Given the description of an element on the screen output the (x, y) to click on. 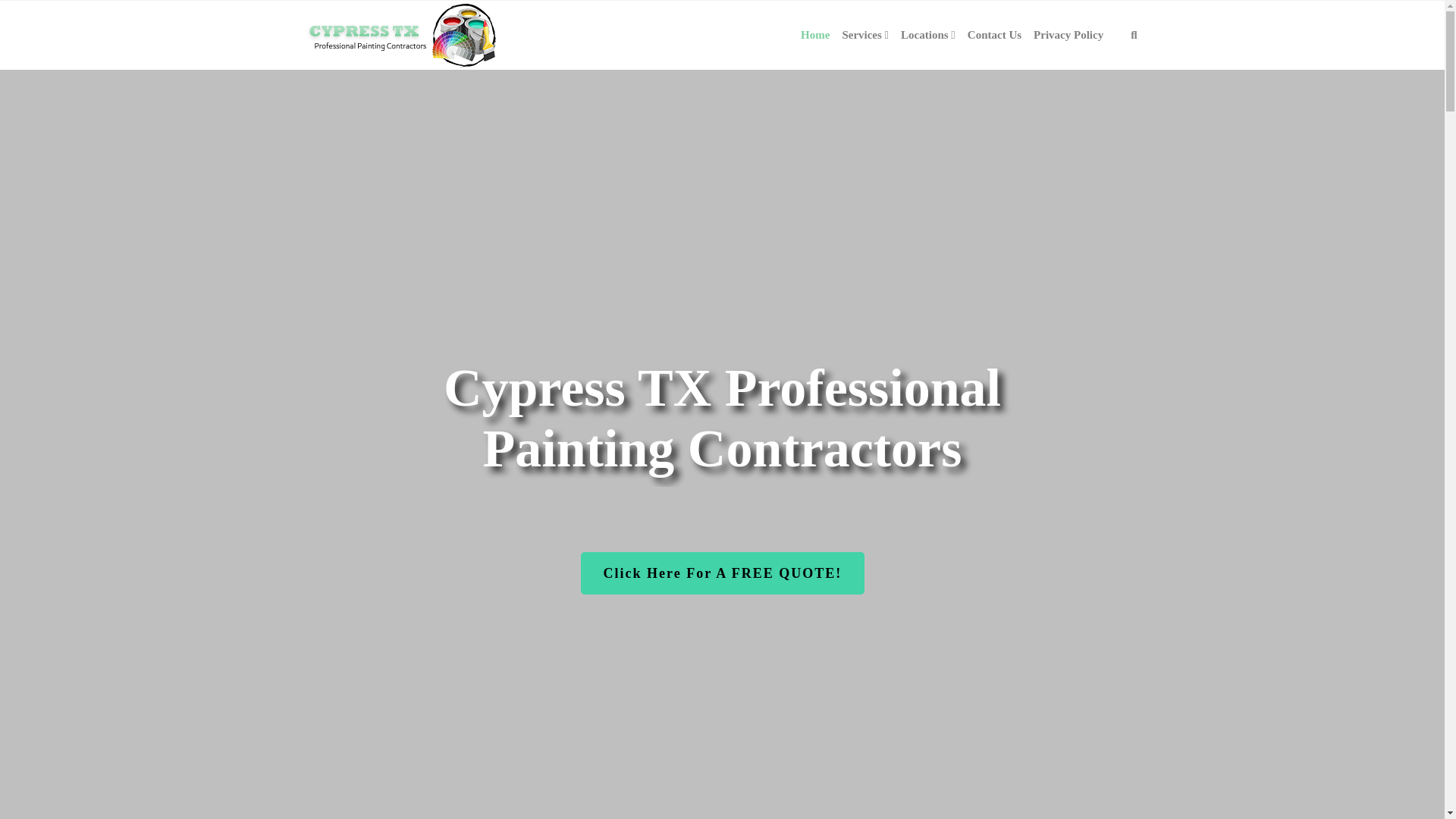
Privacy Policy (1068, 34)
Cypress TX Professional Painting Contractors (406, 34)
Locations (927, 34)
Locations (927, 34)
Services (865, 34)
Contact Us (993, 34)
Home (814, 34)
Services (865, 34)
Home (814, 34)
